Given the description of an element on the screen output the (x, y) to click on. 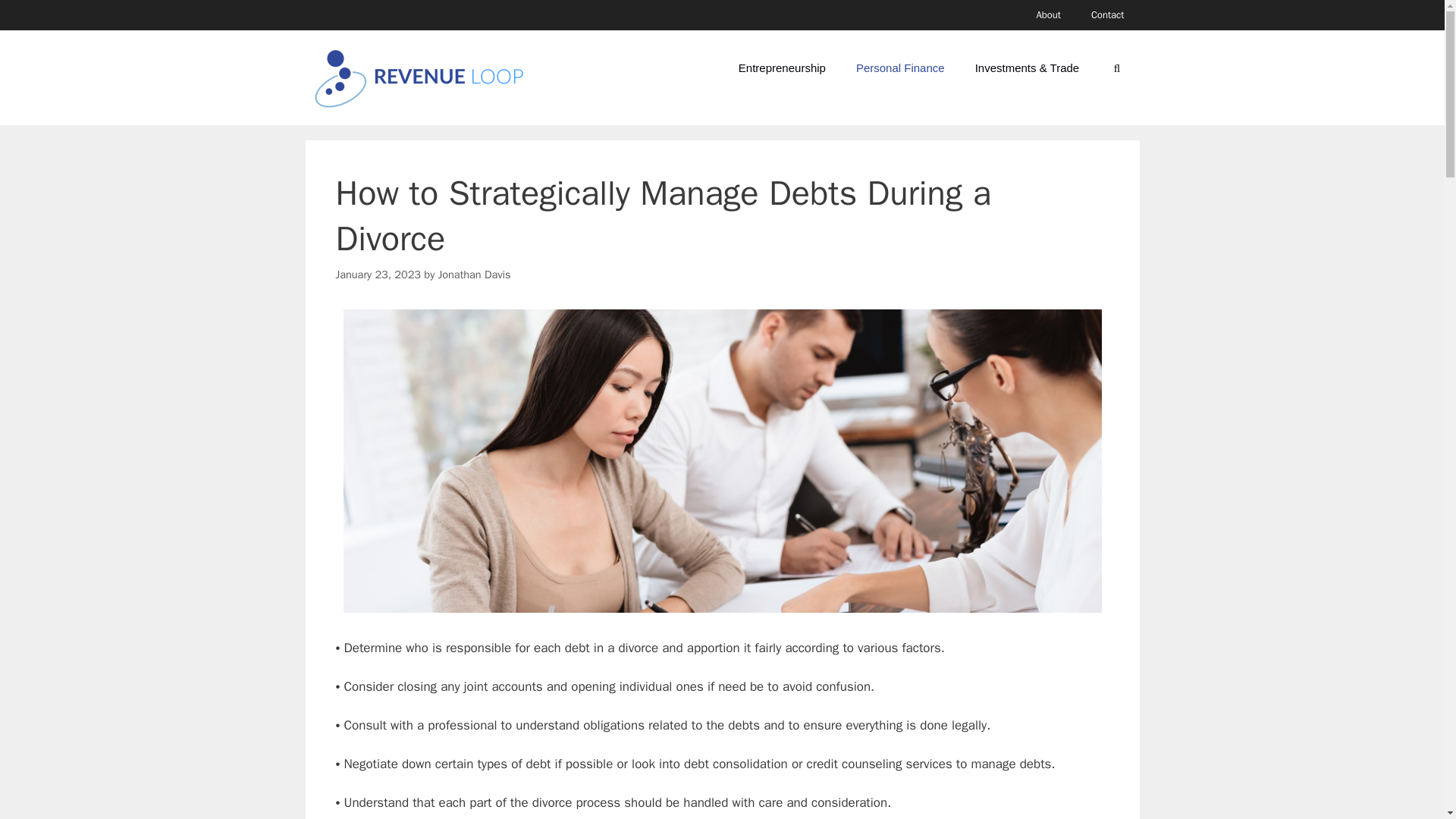
Entrepreneurship (782, 67)
View all posts by Jonathan Davis (474, 274)
Jonathan Davis (474, 274)
Personal Finance (900, 67)
Contact (1107, 15)
About (1047, 15)
